Given the description of an element on the screen output the (x, y) to click on. 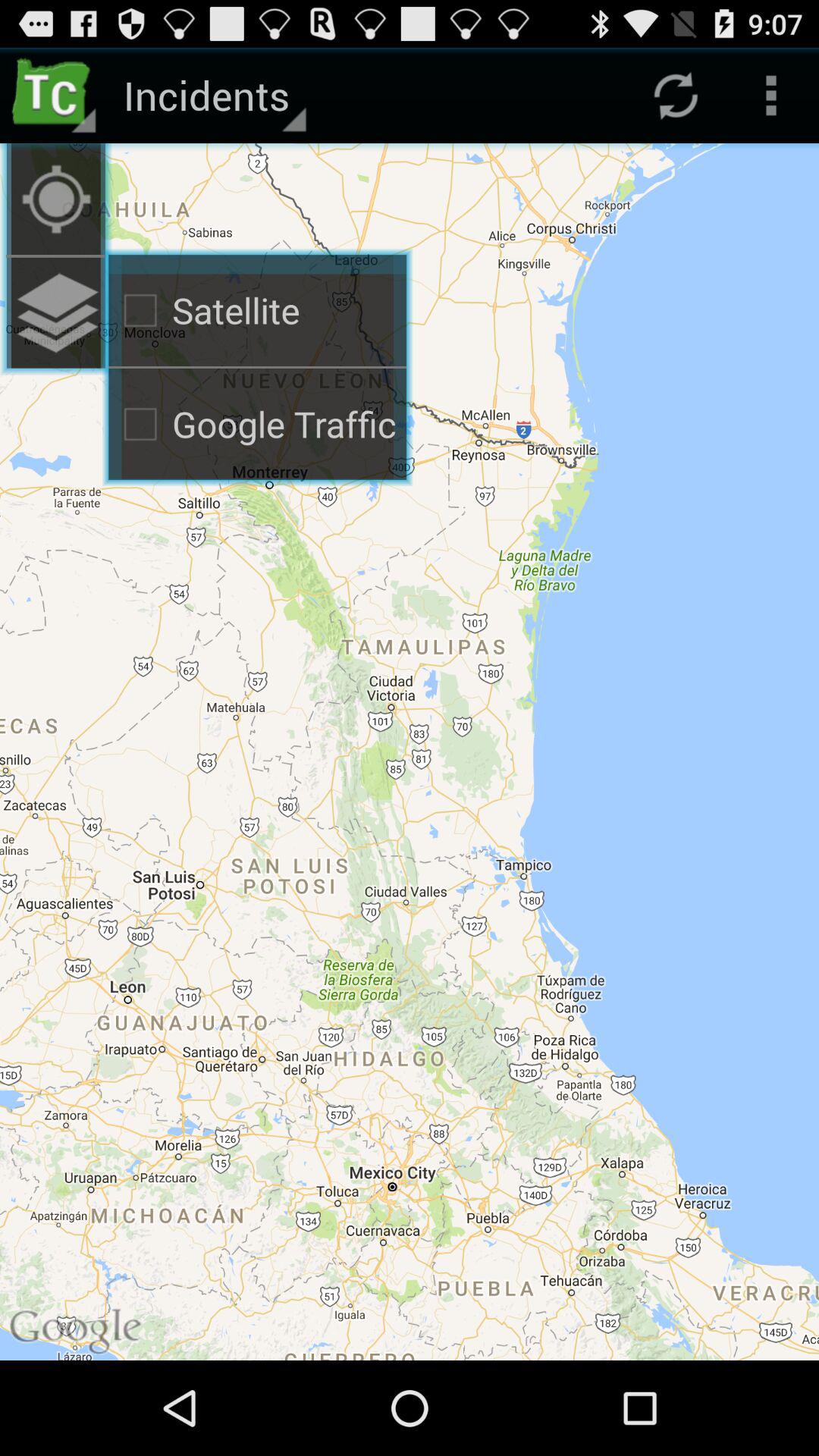
click the icon next to satellite (55, 198)
